Given the description of an element on the screen output the (x, y) to click on. 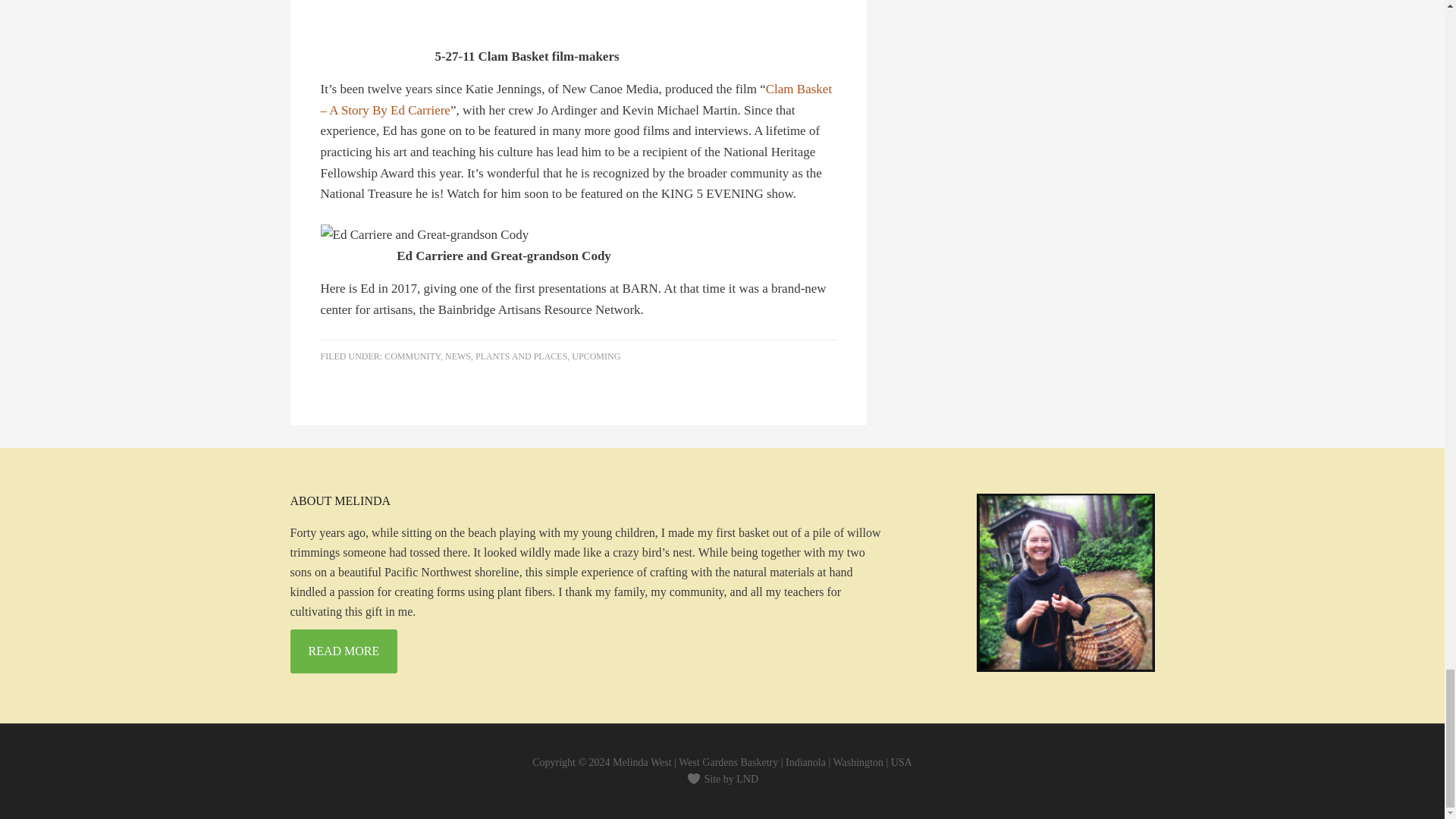
UPCOMING (596, 356)
COMMUNITY (412, 356)
NEWS (457, 356)
PLANTS AND PLACES (521, 356)
